Given the description of an element on the screen output the (x, y) to click on. 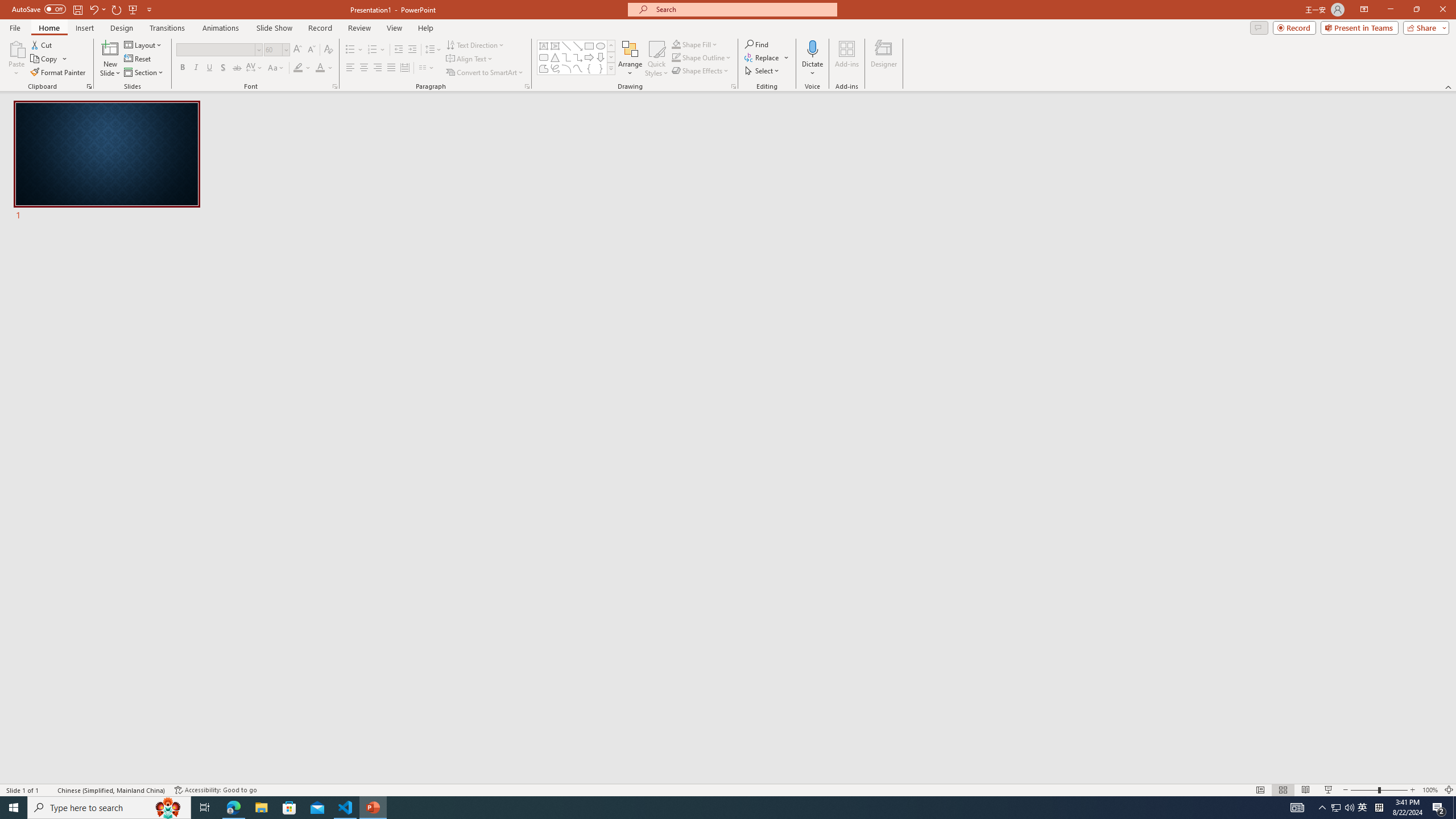
Shapes (611, 68)
Strikethrough (237, 67)
Italic (195, 67)
Arc (566, 68)
Zoom 100% (1430, 790)
Select (762, 69)
